Given the description of an element on the screen output the (x, y) to click on. 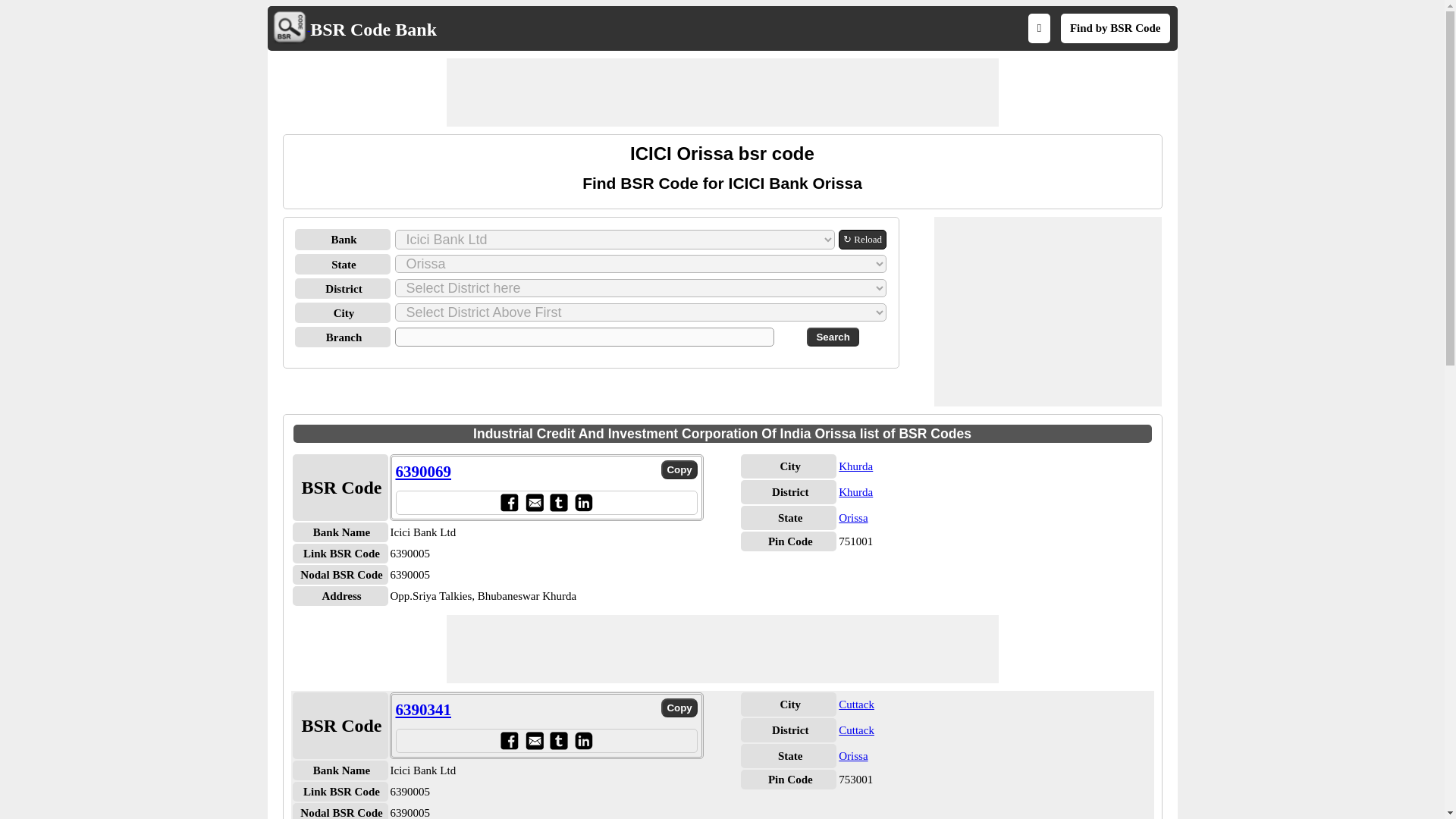
Search (832, 336)
Cuttack (856, 729)
Copy (679, 469)
Share on Twitter (557, 502)
Copy (679, 707)
Share on Facebook (508, 740)
Orissa (852, 517)
Share on Facebook (508, 502)
Search By BSR Code (1115, 28)
BSR Code Bank (373, 29)
